Given the description of an element on the screen output the (x, y) to click on. 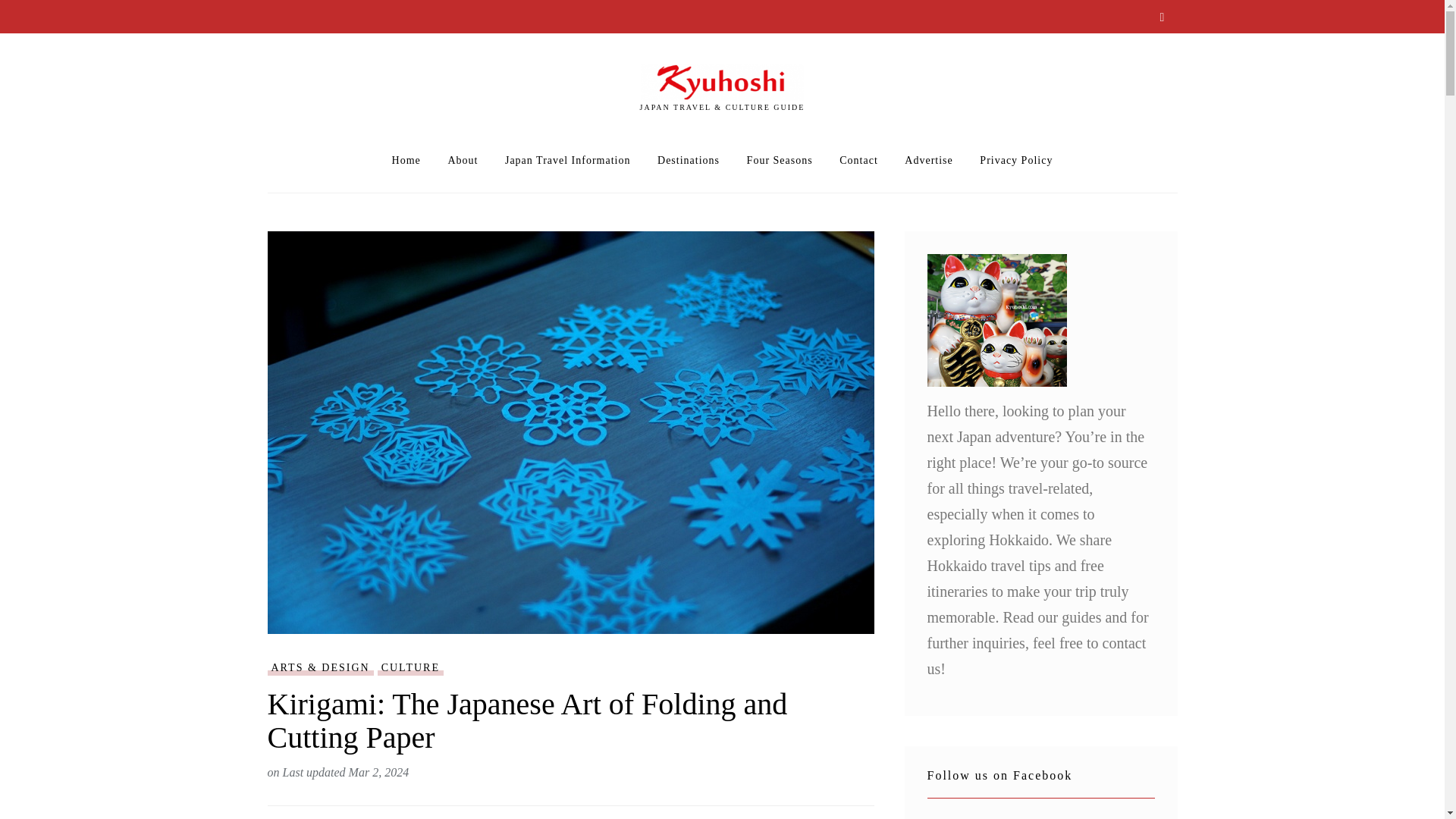
Japan Travel Information (567, 160)
About (461, 160)
Search (1161, 18)
